Given the description of an element on the screen output the (x, y) to click on. 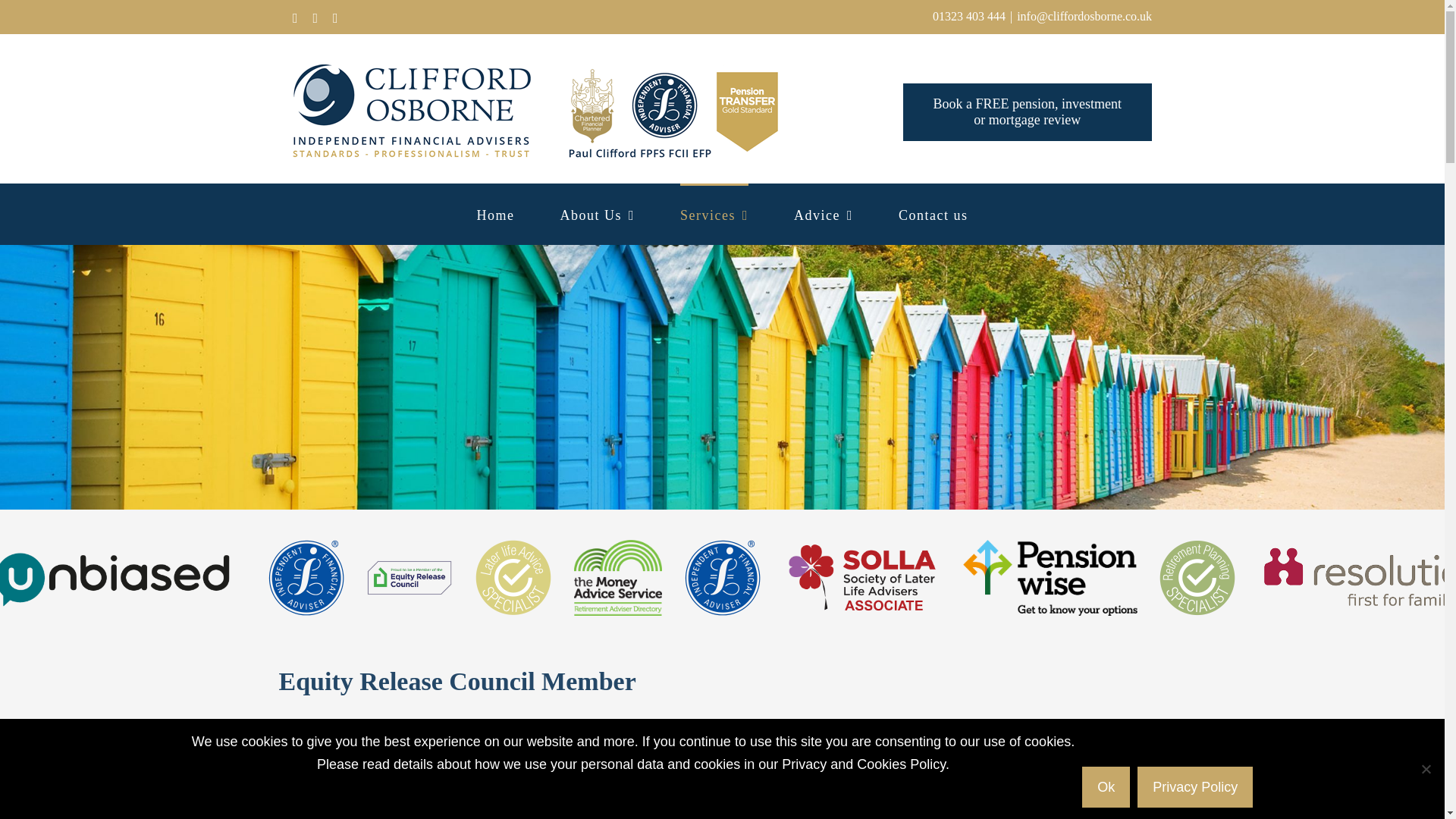
Services (713, 213)
No (1425, 768)
About Us (1026, 111)
01323 403 444 (596, 213)
